Given the description of an element on the screen output the (x, y) to click on. 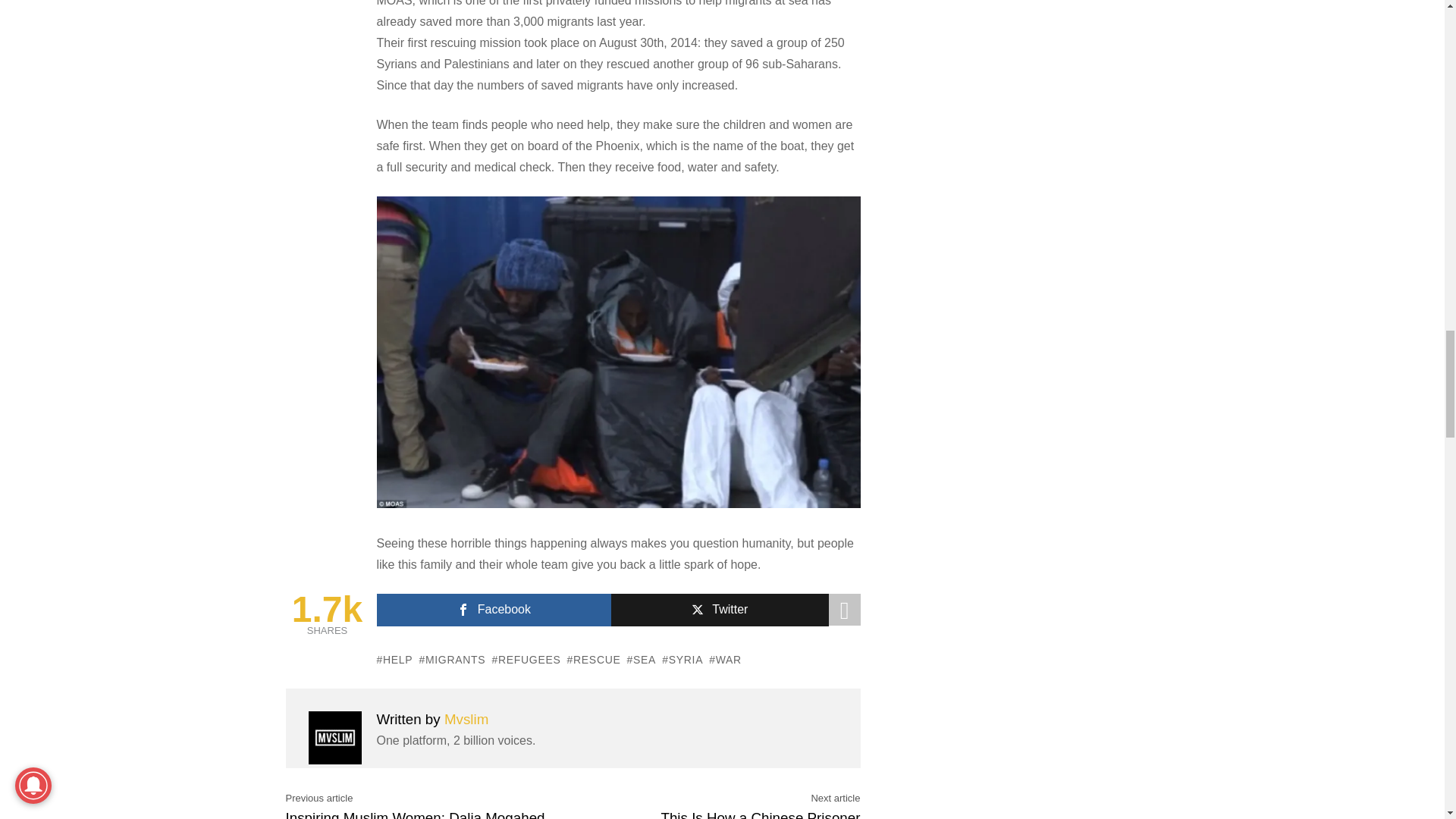
Twitter (719, 609)
Facebook (493, 609)
HELP (393, 659)
